Given the description of an element on the screen output the (x, y) to click on. 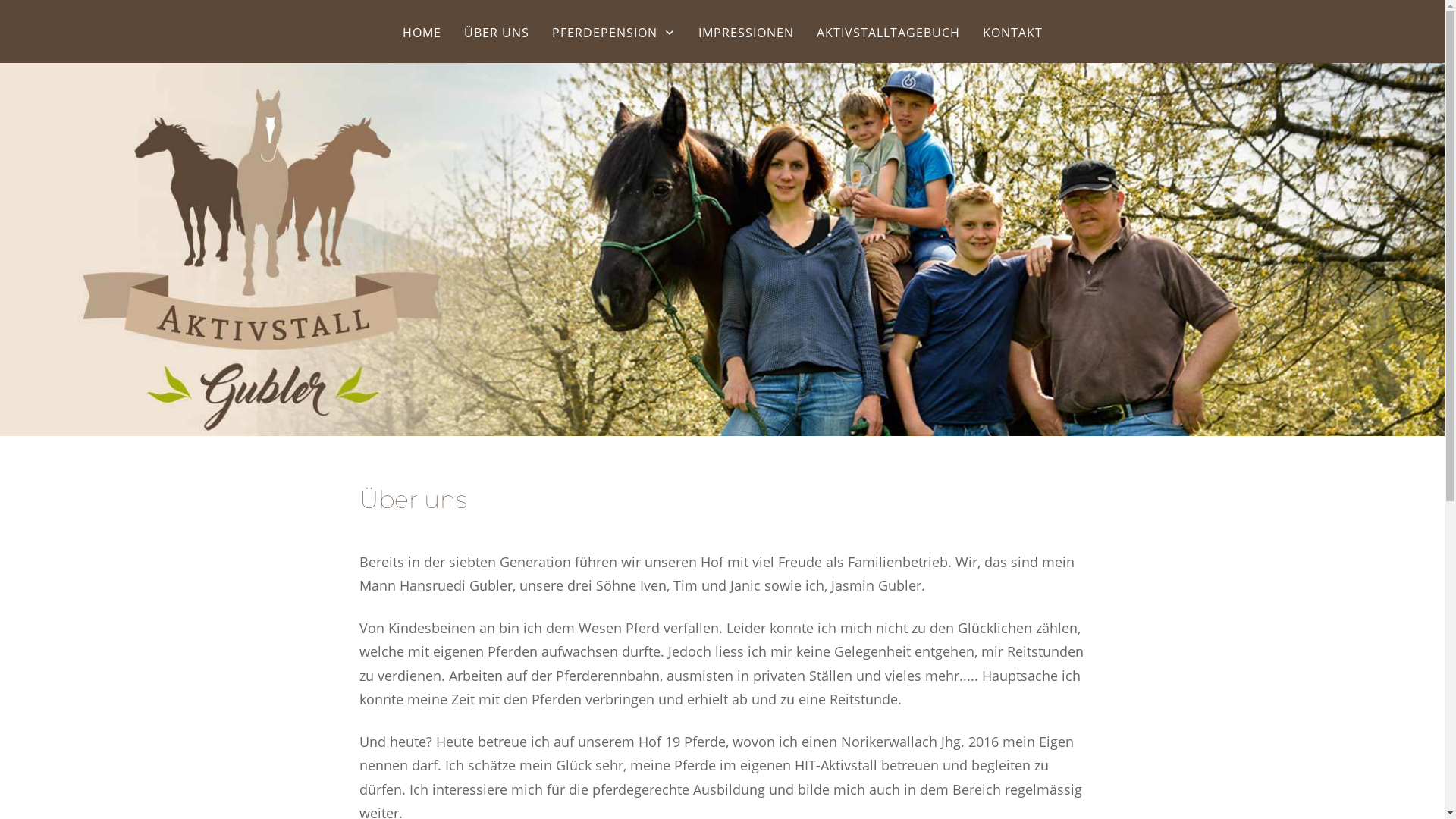
HOME Element type: text (420, 32)
KONTAKT Element type: text (1012, 32)
AKTIVSTALLTAGEBUCH Element type: text (887, 32)
IMPRESSIONEN Element type: text (745, 32)
PFERDEPENSION Element type: text (613, 32)
